Given the description of an element on the screen output the (x, y) to click on. 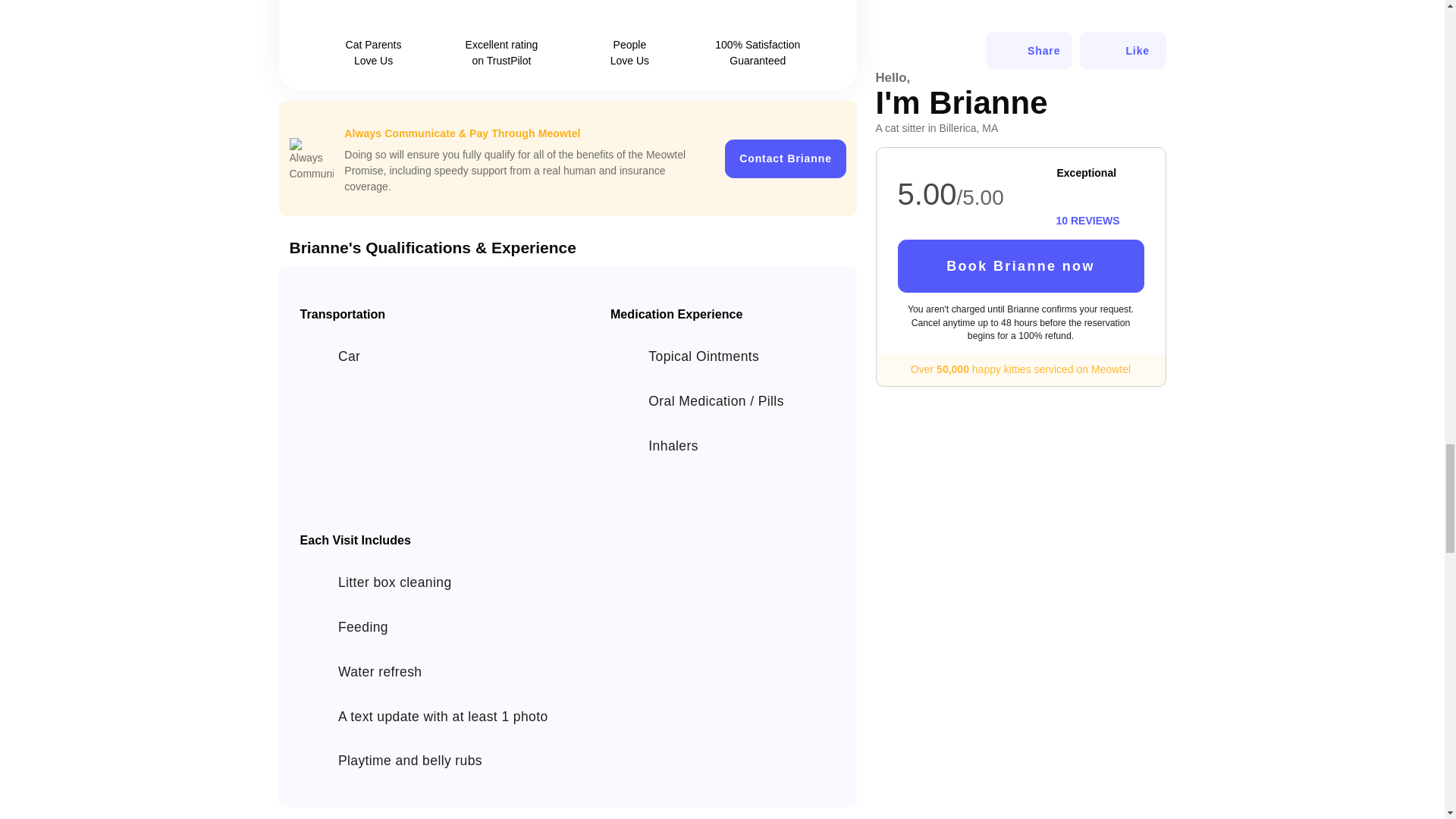
Contact Brianne (785, 158)
